Given the description of an element on the screen output the (x, y) to click on. 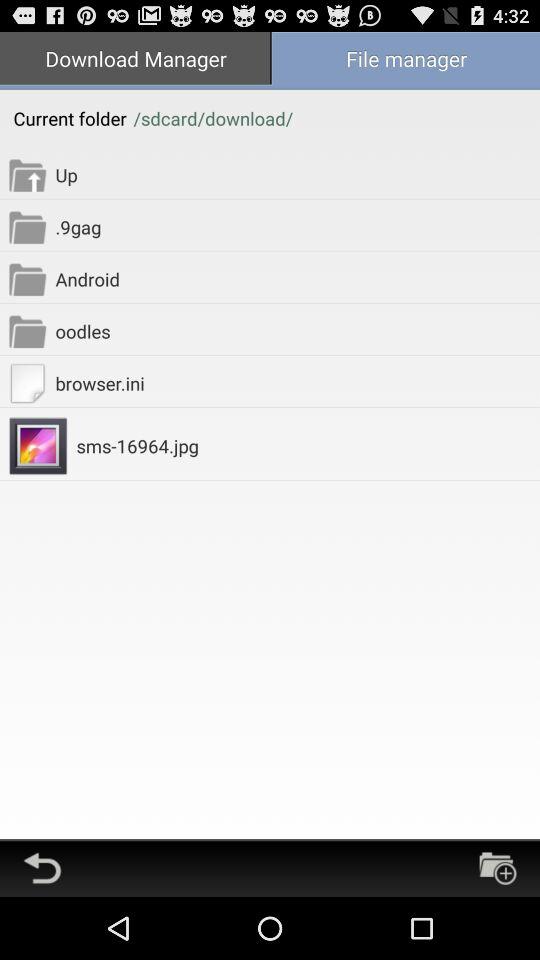
open app below the oodles app (297, 382)
